Given the description of an element on the screen output the (x, y) to click on. 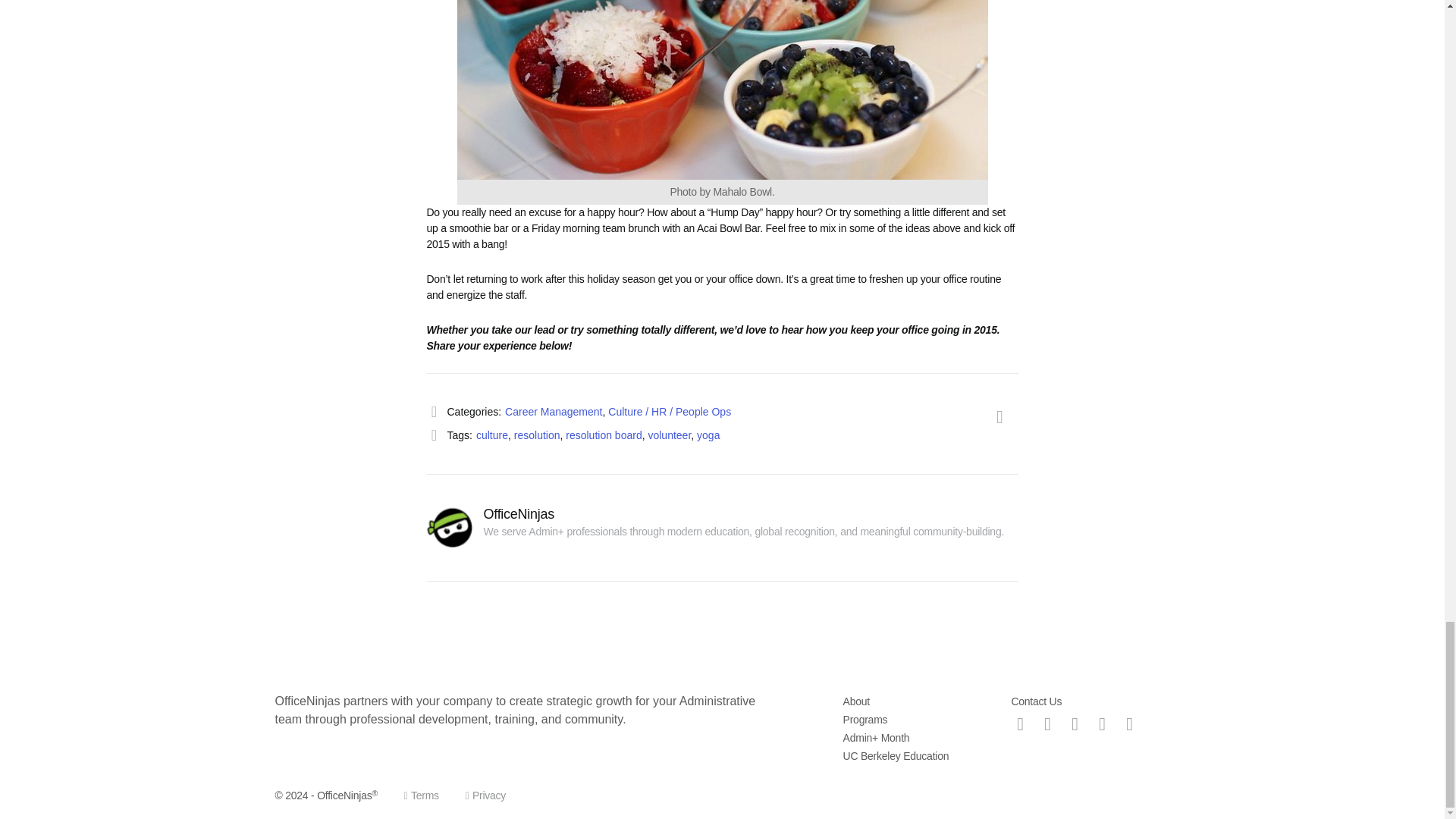
Career Management (553, 411)
yoga (708, 435)
resolution board (604, 435)
volunteer (668, 435)
resolution (536, 435)
culture (492, 435)
